Given the description of an element on the screen output the (x, y) to click on. 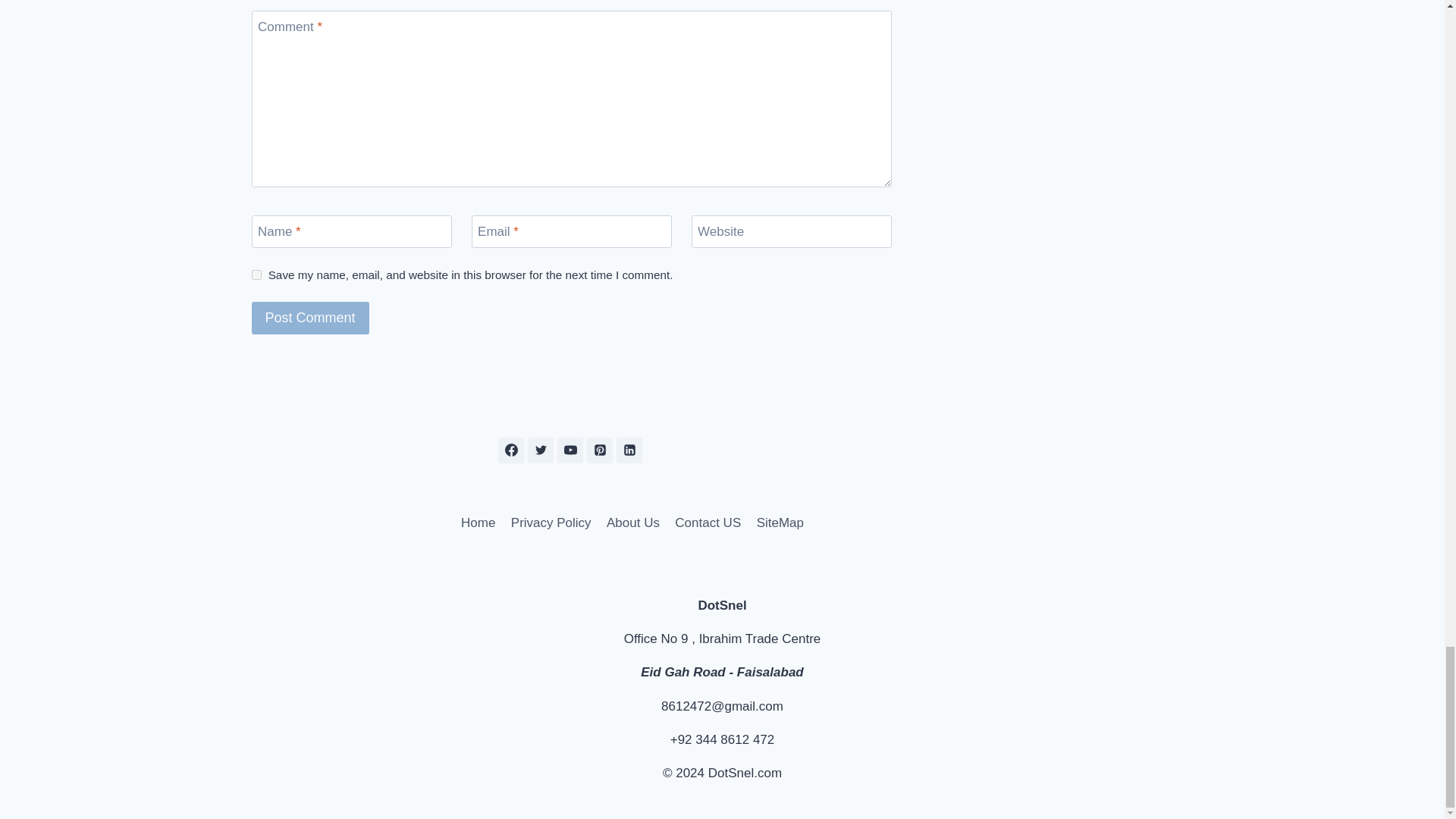
Post Comment (310, 318)
yes (256, 275)
